Given the description of an element on the screen output the (x, y) to click on. 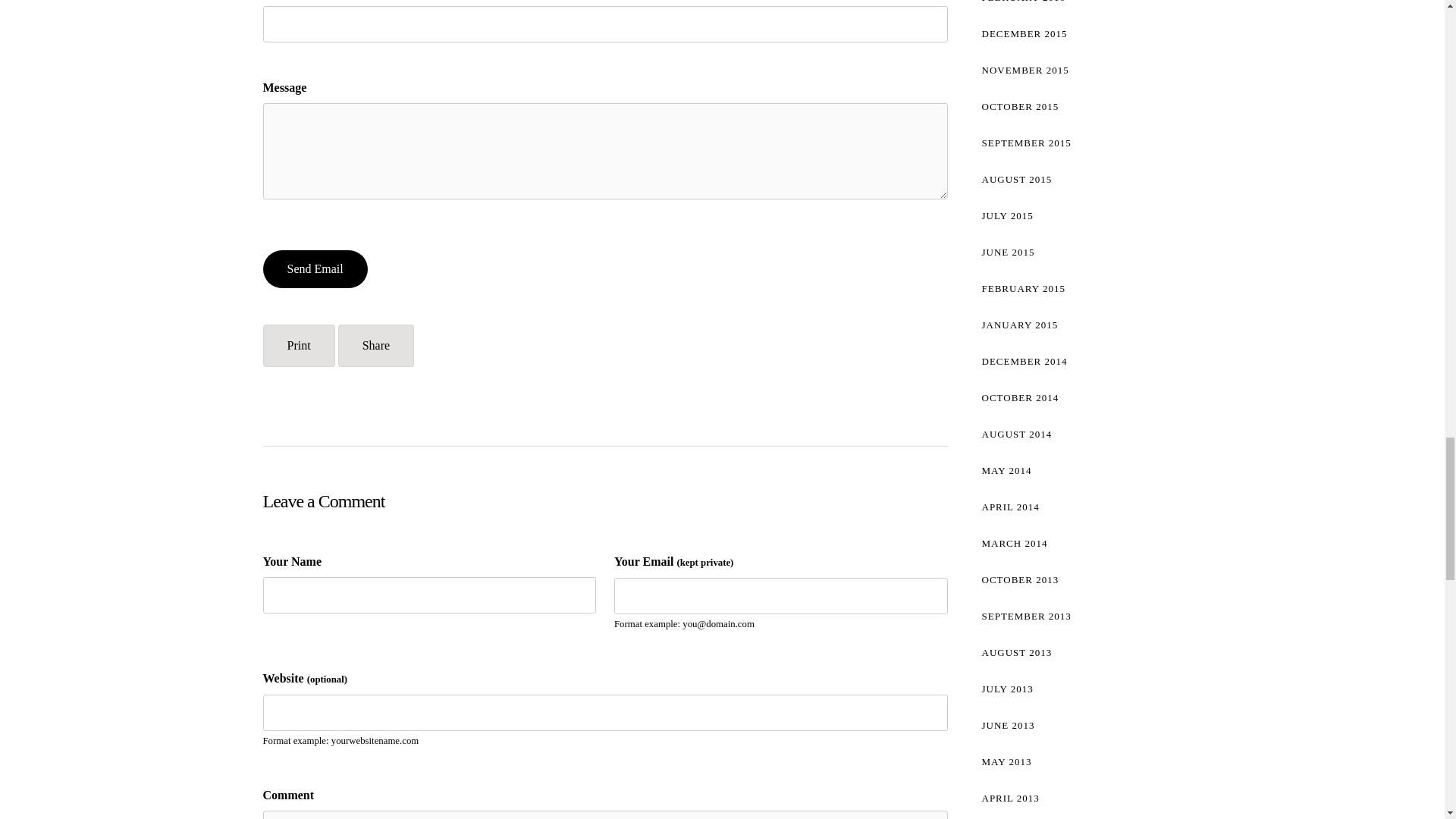
Opens dialog (375, 345)
Opens new window with print ready page (298, 345)
